Given the description of an element on the screen output the (x, y) to click on. 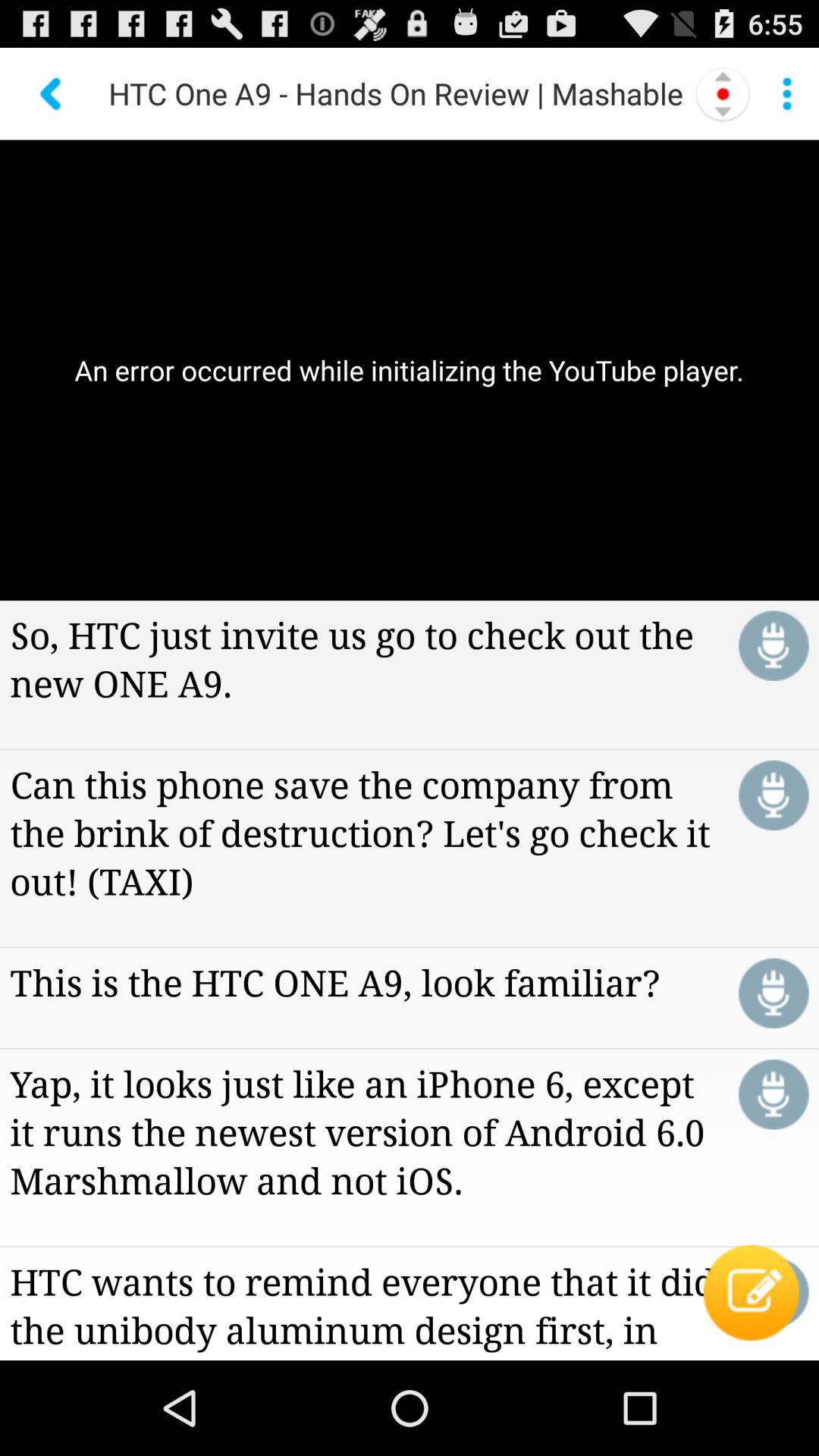
go back (52, 93)
